Given the description of an element on the screen output the (x, y) to click on. 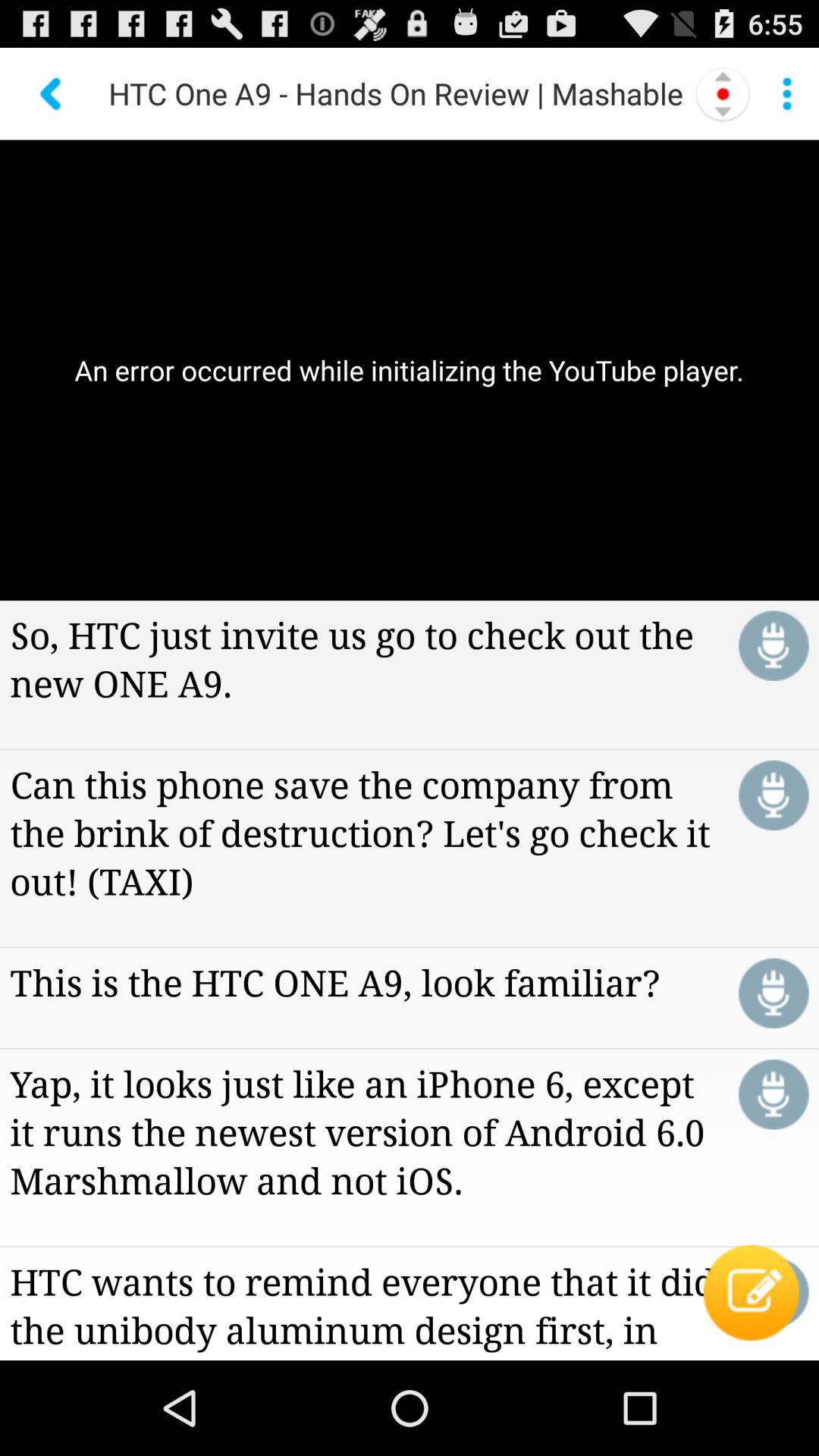
go back (52, 93)
